Given the description of an element on the screen output the (x, y) to click on. 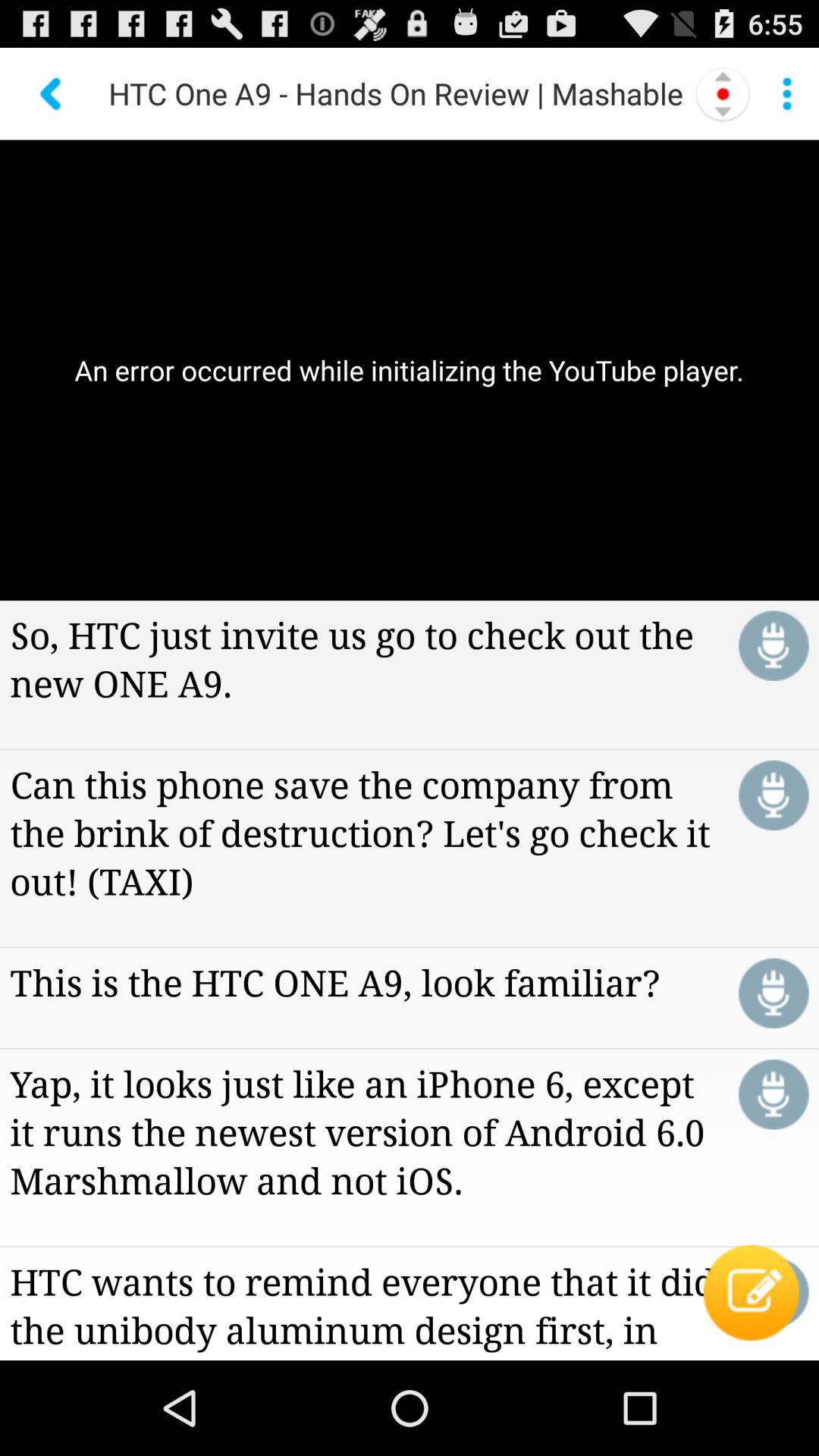
go back (52, 93)
